Given the description of an element on the screen output the (x, y) to click on. 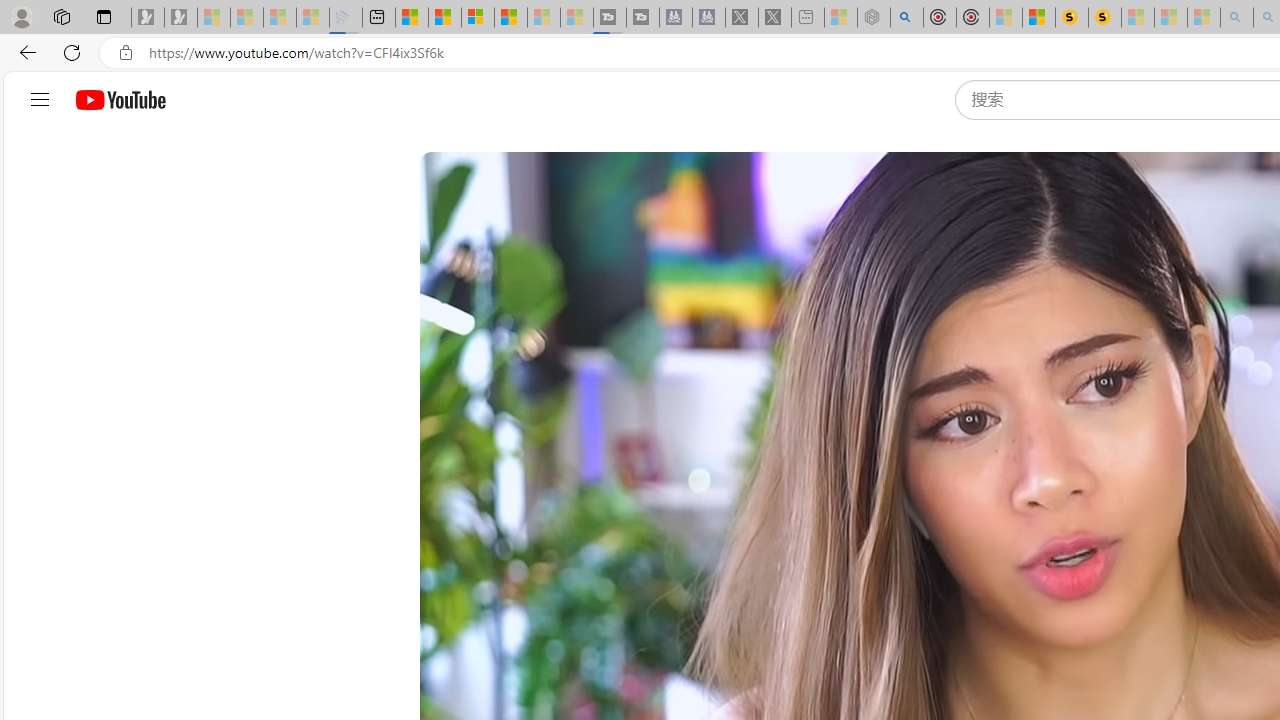
Newsletter Sign Up - Sleeping (181, 17)
Refresh (72, 52)
Streaming Coverage | T3 - Sleeping (609, 17)
